Given the description of an element on the screen output the (x, y) to click on. 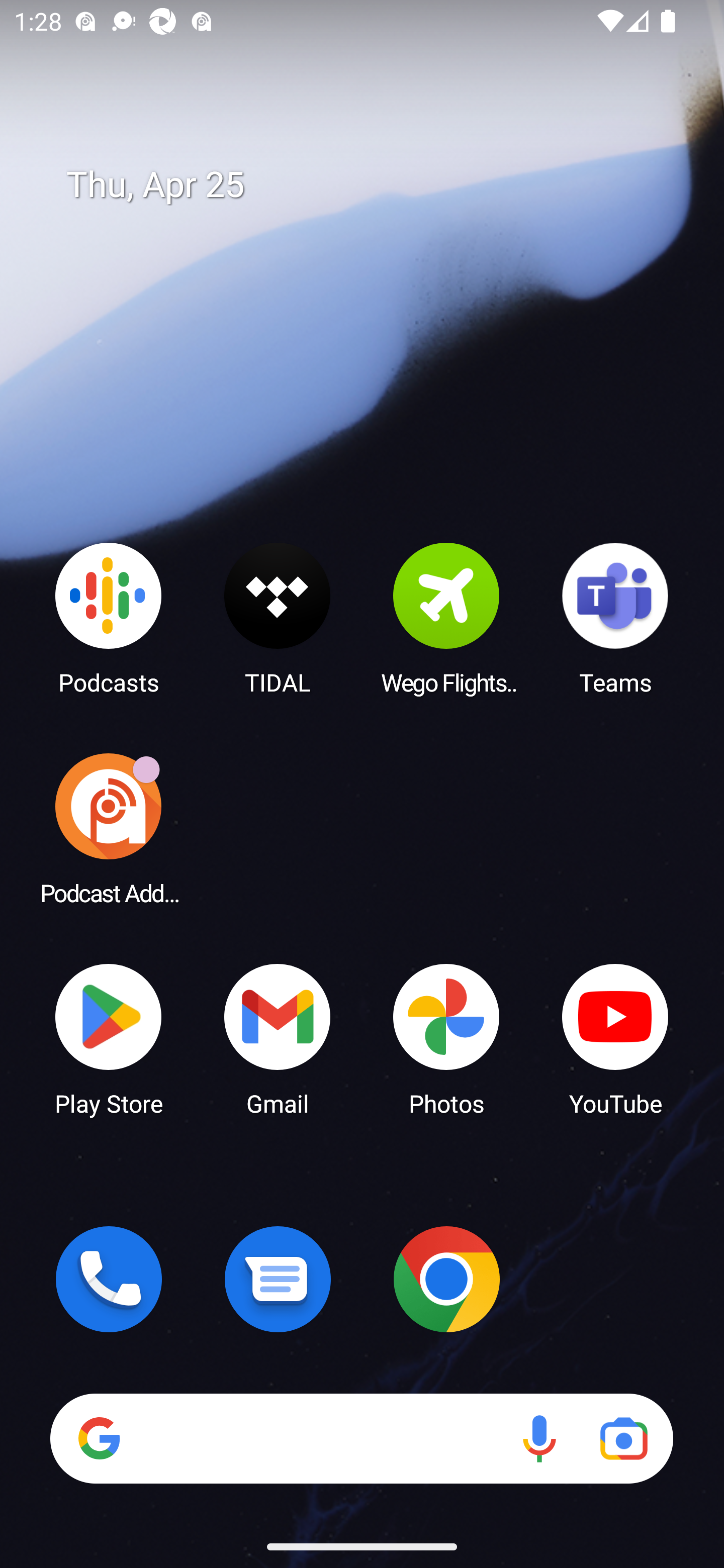
Thu, Apr 25 (375, 184)
Podcasts (108, 617)
TIDAL (277, 617)
Wego Flights & Hotels (445, 617)
Teams (615, 617)
Play Store (108, 1038)
Gmail (277, 1038)
Photos (445, 1038)
YouTube (615, 1038)
Phone (108, 1279)
Messages (277, 1279)
Chrome (446, 1279)
Search Voice search Google Lens (361, 1438)
Voice search (539, 1438)
Google Lens (623, 1438)
